Given the description of an element on the screen output the (x, y) to click on. 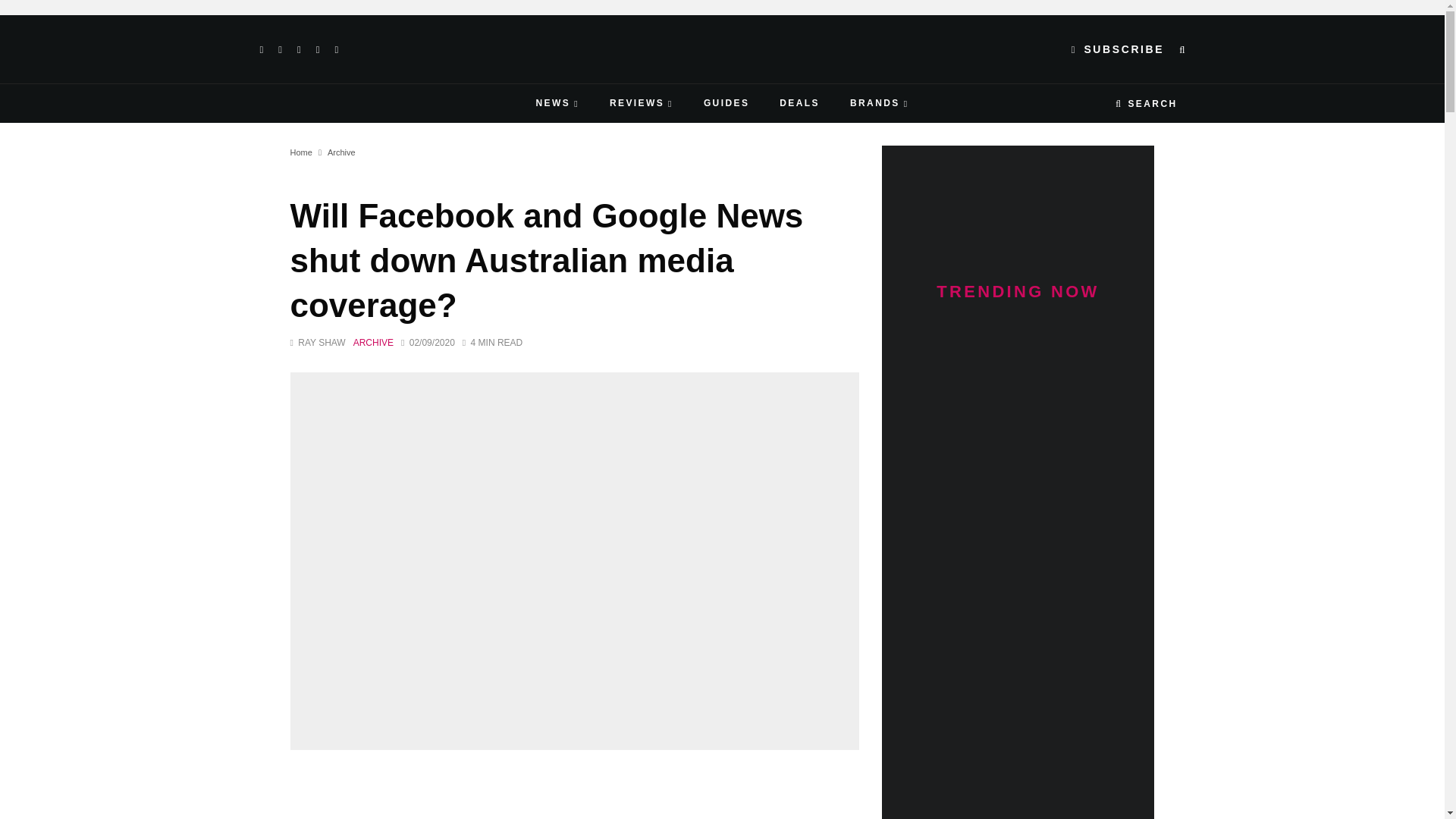
NEWS (557, 103)
SUBSCRIBE (1118, 49)
